Given the description of an element on the screen output the (x, y) to click on. 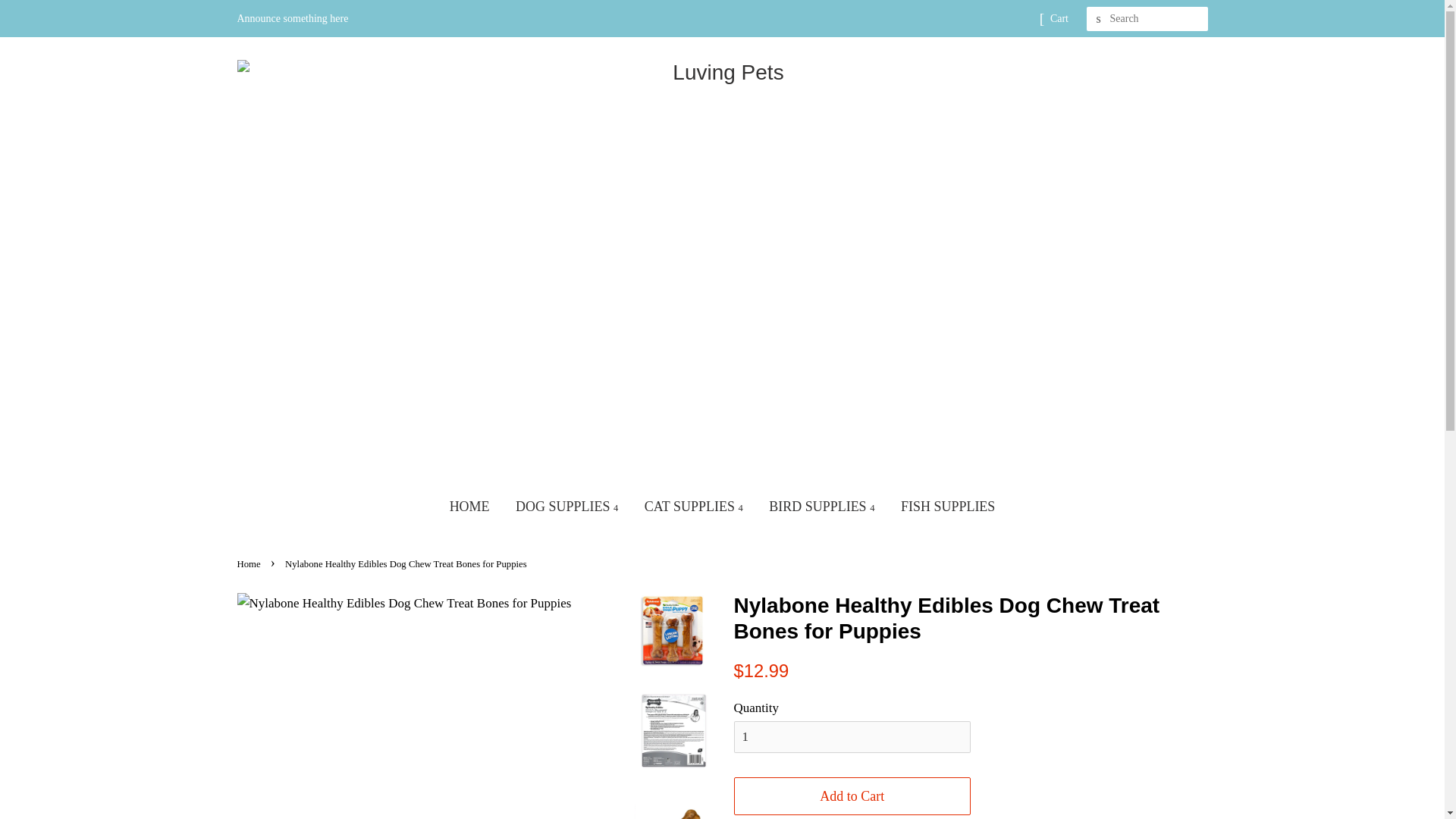
CAT SUPPLIES (693, 506)
BIRD SUPPLIES (821, 506)
Search (1097, 18)
Cart (1058, 18)
DOG SUPPLIES (565, 506)
HOME (469, 506)
1 (852, 736)
FISH SUPPLIES (947, 506)
Back to the frontpage (249, 563)
